Given the description of an element on the screen output the (x, y) to click on. 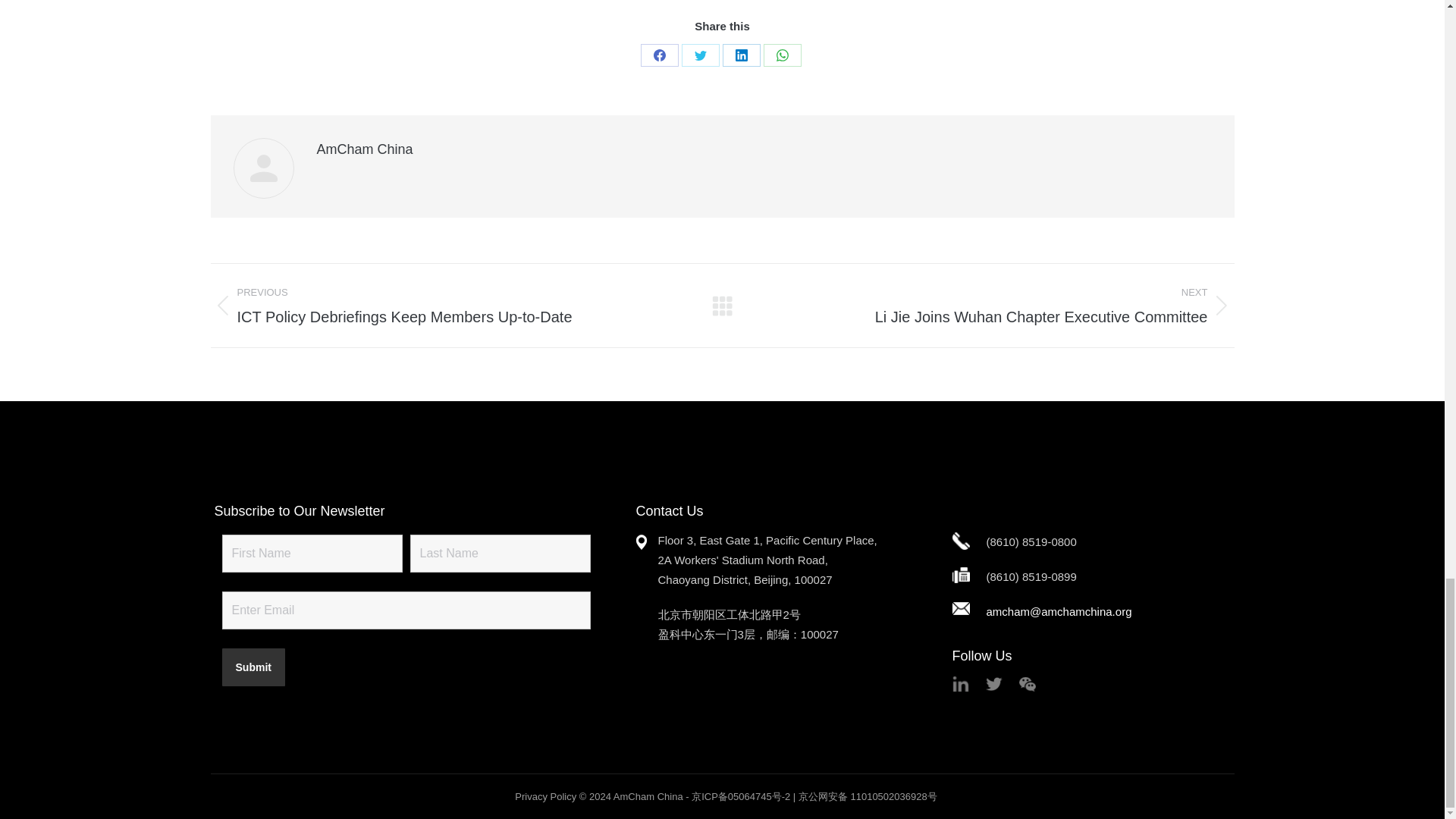
Submit (252, 667)
LinkedIn (741, 55)
Facebook (659, 55)
WhatsApp (781, 55)
Twitter (700, 55)
